Given the description of an element on the screen output the (x, y) to click on. 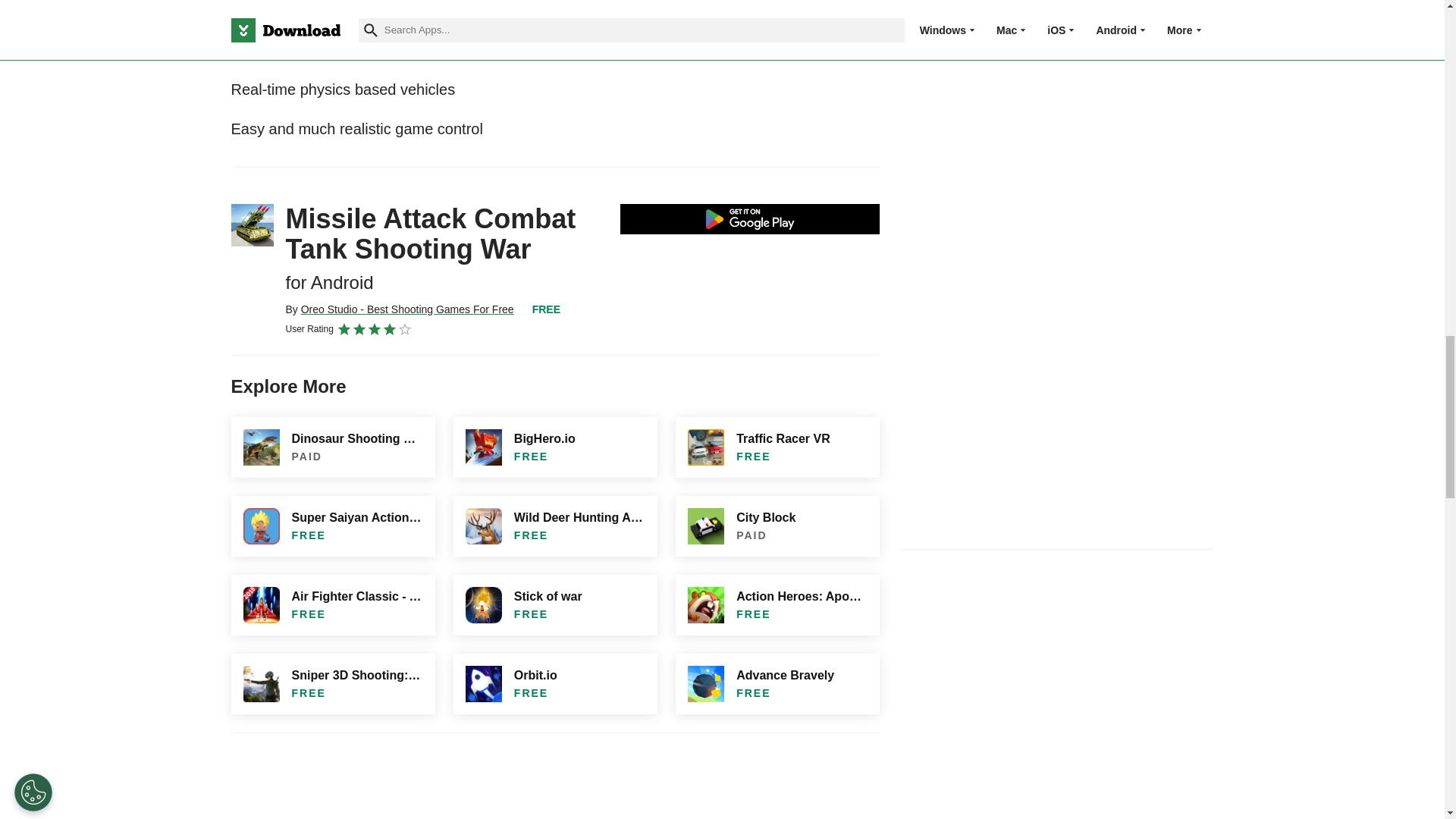
Advance Bravely (777, 683)
Get it on Google Play (750, 218)
Dinosaur Shooting Games- Counter Attack (331, 446)
BigHero.io (555, 446)
Sniper 3D Shooting: Black OPS - Free FPS Game (331, 683)
Traffic Racer VR (777, 446)
Wild Deer Hunting  Animal Hunting in Jungle (555, 526)
Stick of war (555, 604)
Air Fighter Classic - Aircraft (331, 604)
Super Saiyan Action - Game Battle Warrior (331, 526)
Orbit.io (555, 683)
Action Heroes: Apocalypse (777, 604)
City Block (777, 526)
Missile Attack Combat Tank Shooting War for Android (251, 224)
